Given the description of an element on the screen output the (x, y) to click on. 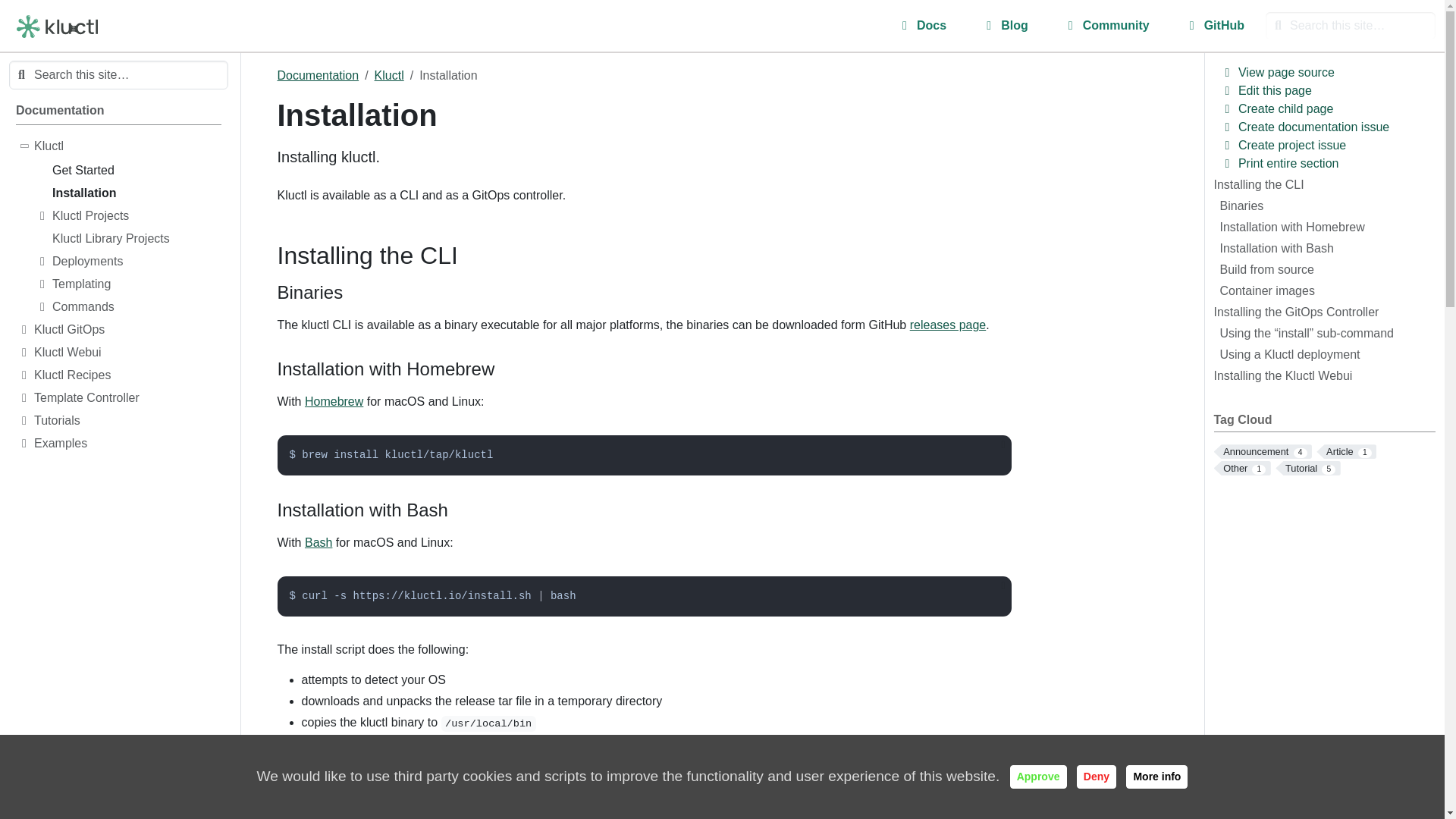
Community (1106, 25)
Deny (1096, 776)
Deployments (136, 263)
Installation (136, 195)
Commands (136, 309)
Templating (136, 286)
More info (1156, 776)
Kluctl Projects (136, 218)
Blog (1005, 25)
GitHub (1214, 25)
